Given the description of an element on the screen output the (x, y) to click on. 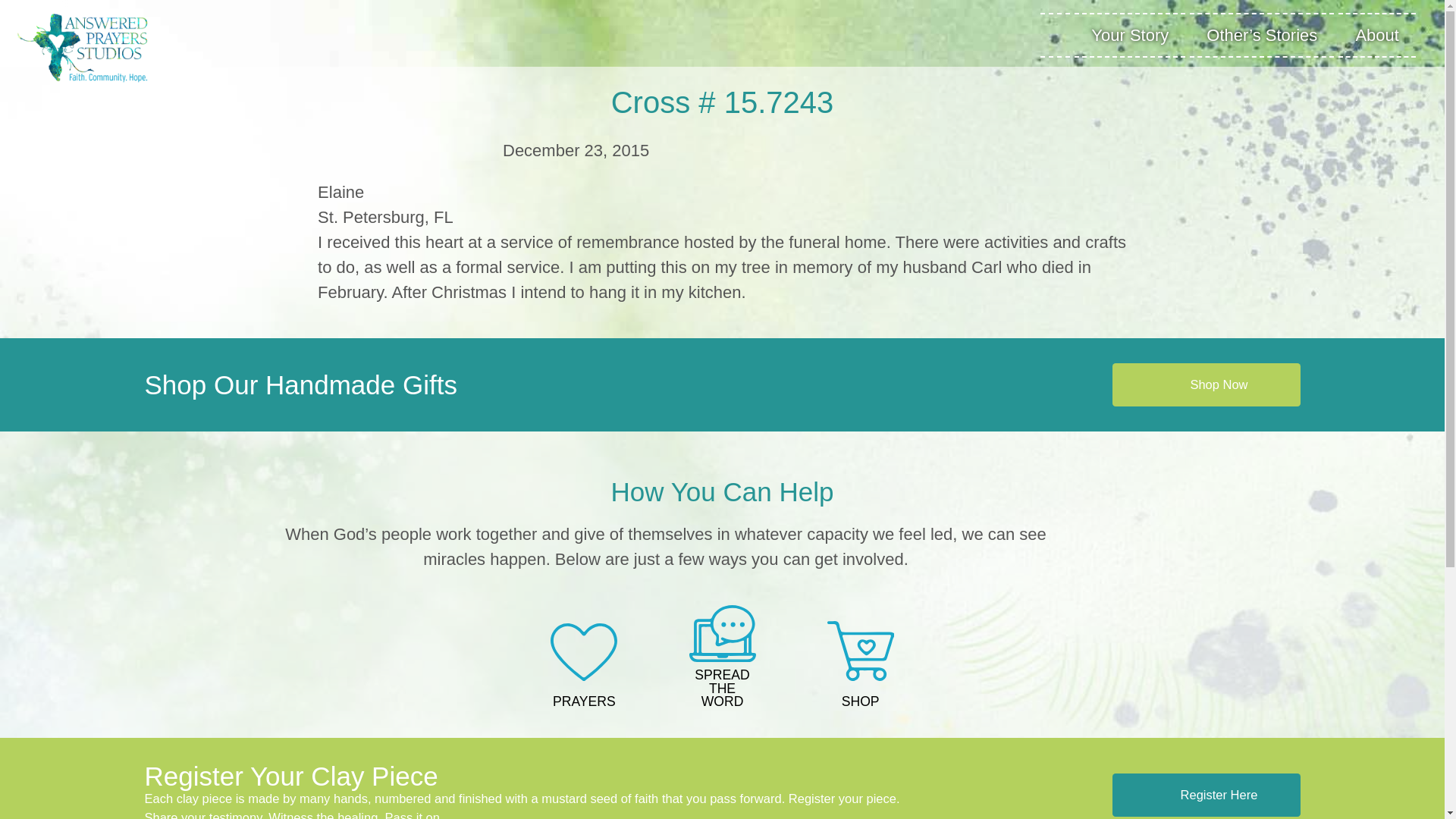
Register Here (1206, 795)
Your Story (1129, 34)
SPREAD THE WORD (721, 658)
SHOP (860, 666)
Shop Now (1206, 385)
About (1376, 34)
PRAYERS (583, 667)
